Given the description of an element on the screen output the (x, y) to click on. 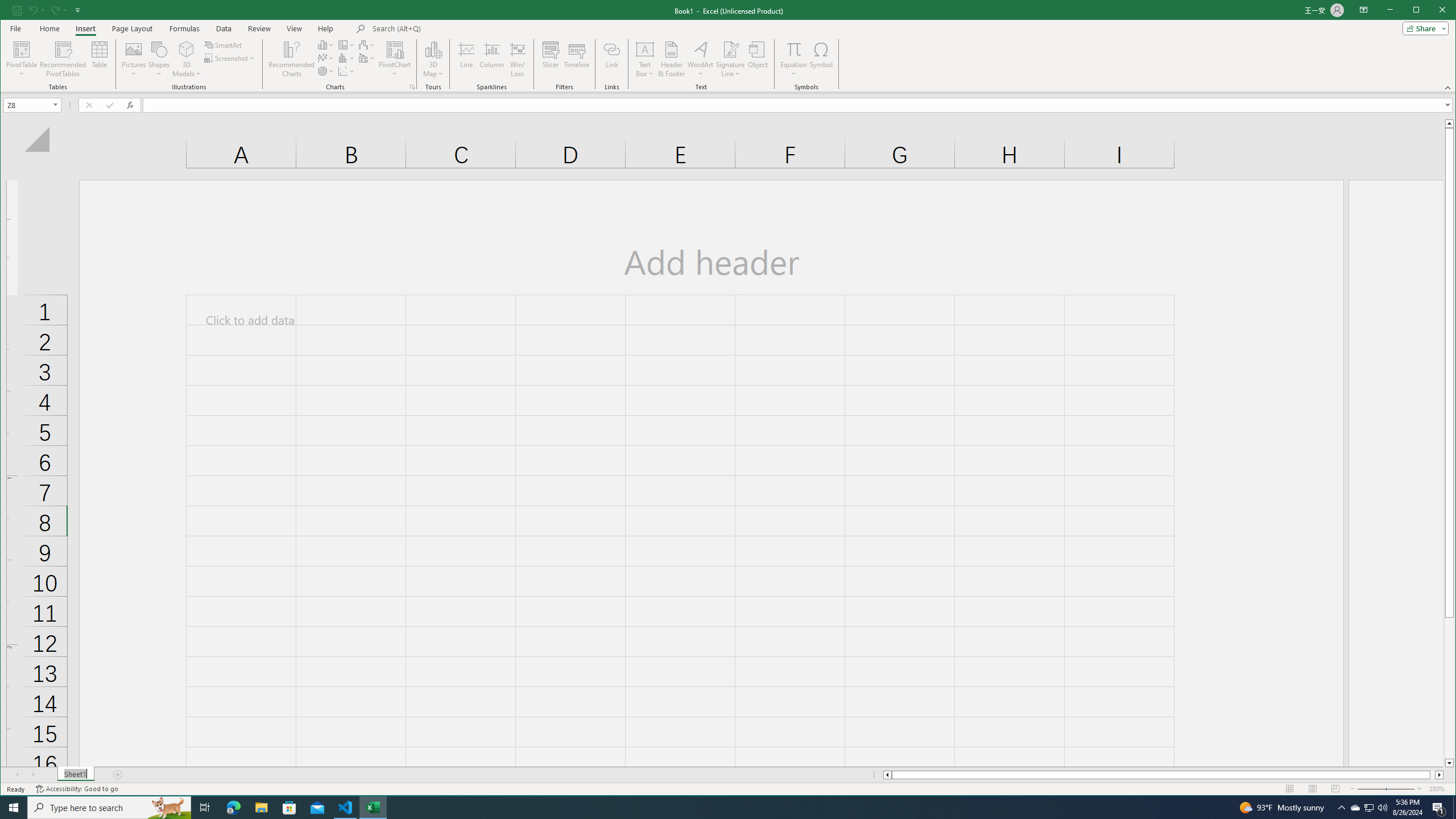
Pictures (133, 59)
PivotChart (394, 48)
PivotTable (22, 59)
Timeline (576, 59)
Insert Scatter (X, Y) or Bubble Chart (346, 70)
Insert Column or Bar Chart (325, 44)
Microsoft Store (289, 807)
Search highlights icon opens search home window (167, 807)
